Given the description of an element on the screen output the (x, y) to click on. 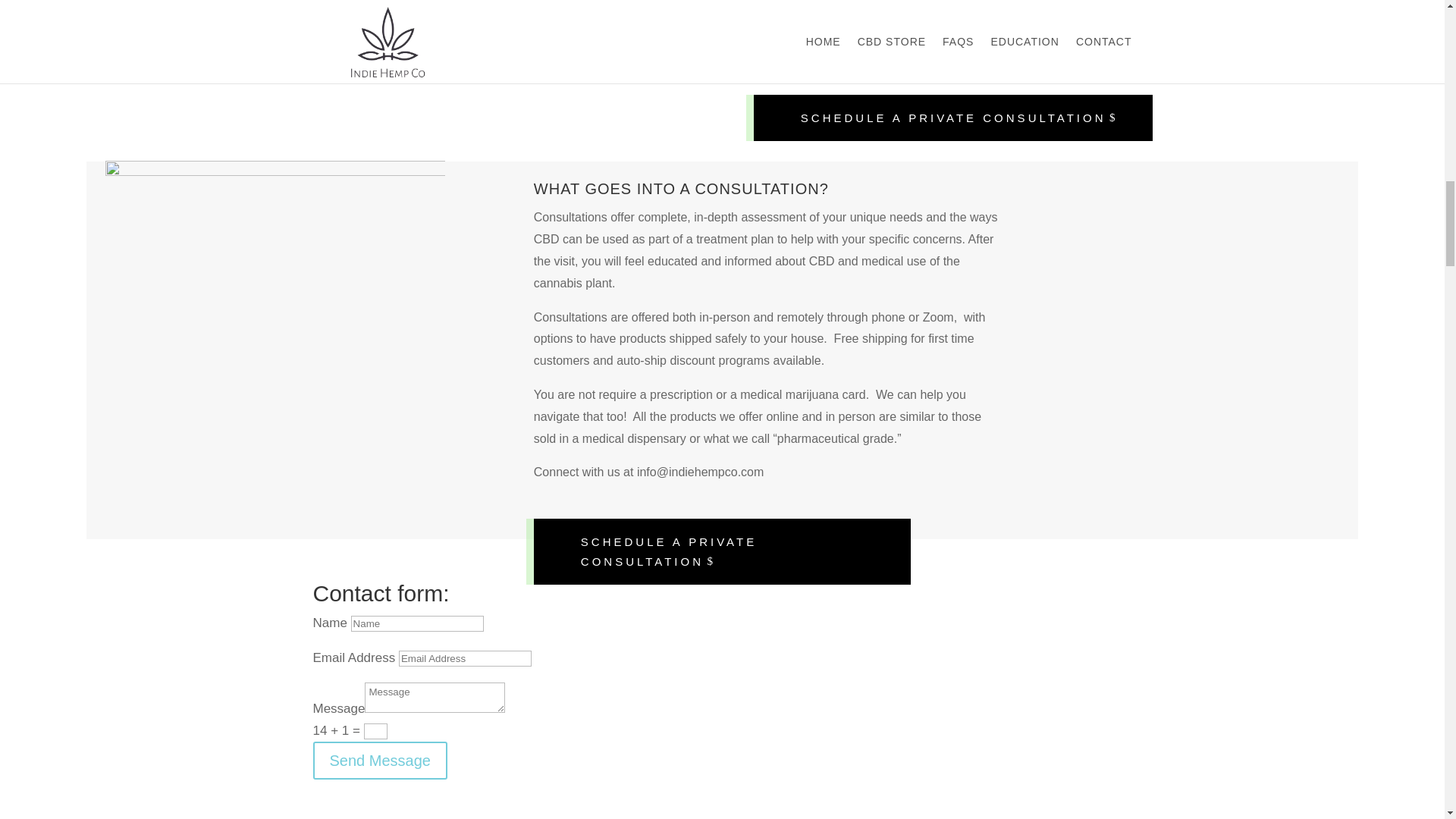
qtq80-Xf1AB2 (421, 28)
SCHEDULE A PRIVATE CONSULTATION (953, 118)
Send Message (379, 760)
SCHEDULE A PRIVATE CONSULTATION (722, 551)
